Given the description of an element on the screen output the (x, y) to click on. 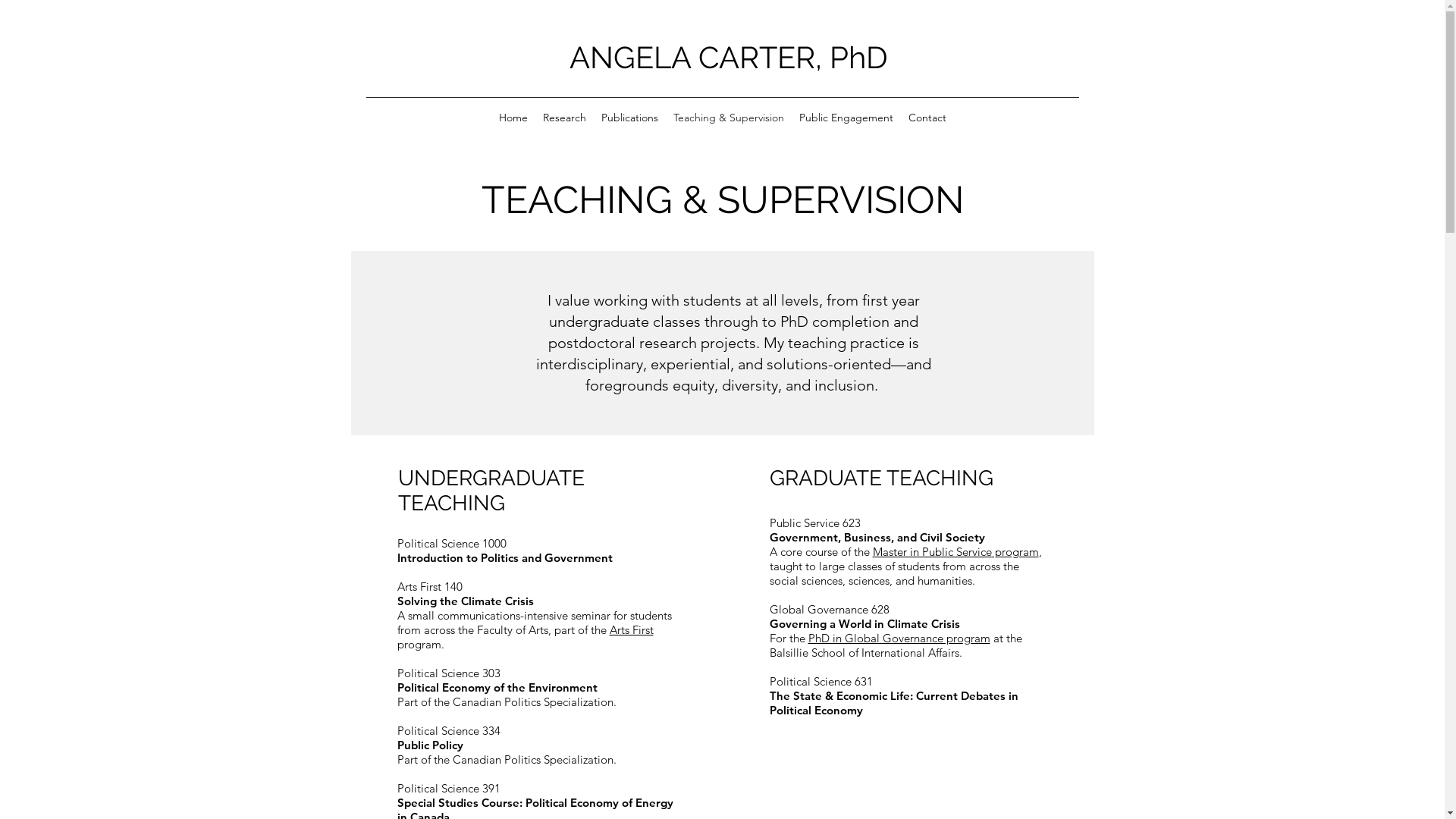
PhD in Global Governance program Element type: text (899, 637)
Arts First Element type: text (631, 629)
ANGELA CARTER, PhD Element type: text (728, 57)
Public Engagement Element type: text (845, 117)
Teaching & Supervision Element type: text (728, 117)
Research Element type: text (564, 117)
Home Element type: text (513, 117)
Contact Element type: text (926, 117)
Publications Element type: text (629, 117)
Master in Public Service Element type: text (931, 551)
